Given the description of an element on the screen output the (x, y) to click on. 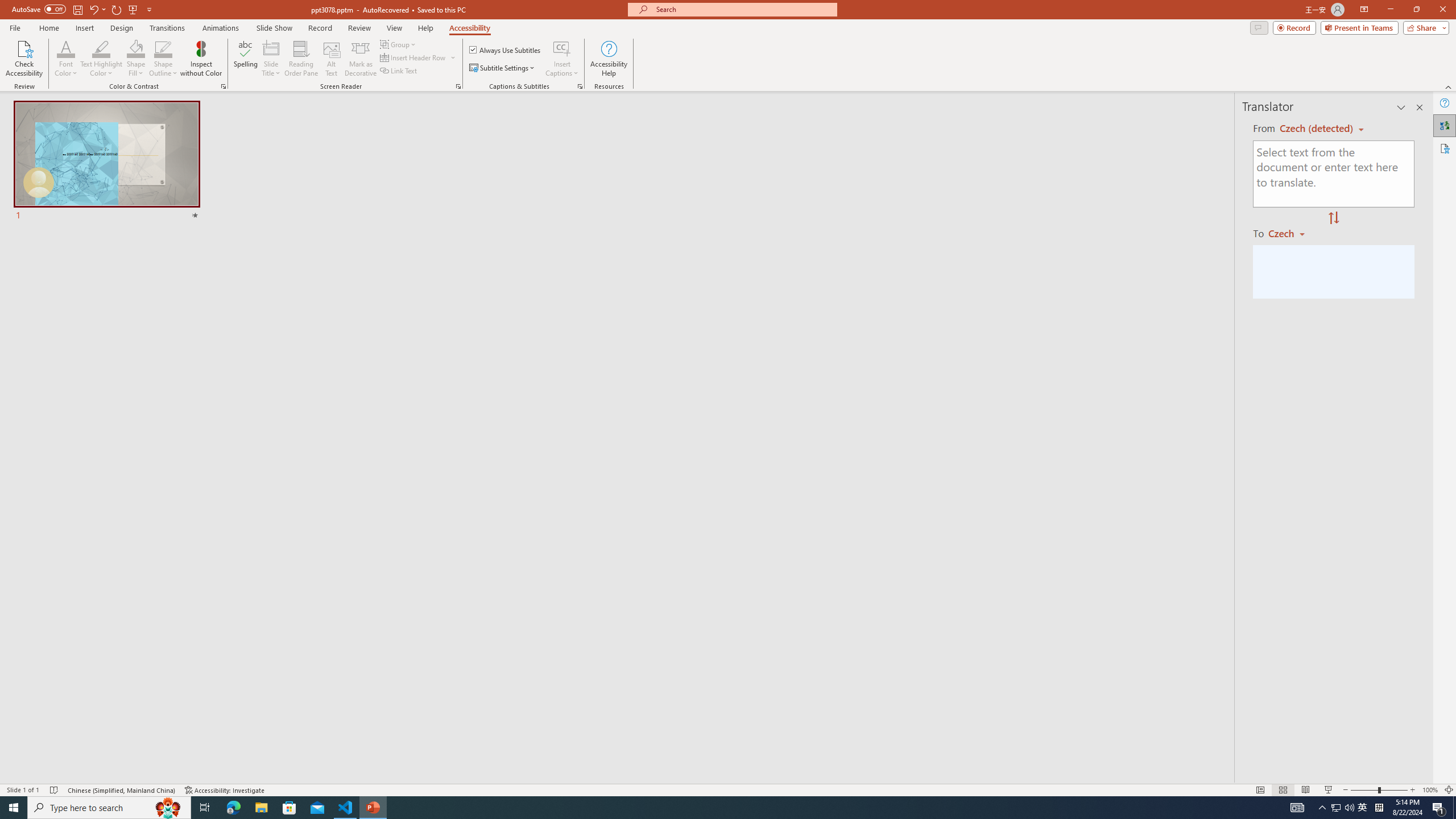
Inspect without Color (201, 58)
